Given the description of an element on the screen output the (x, y) to click on. 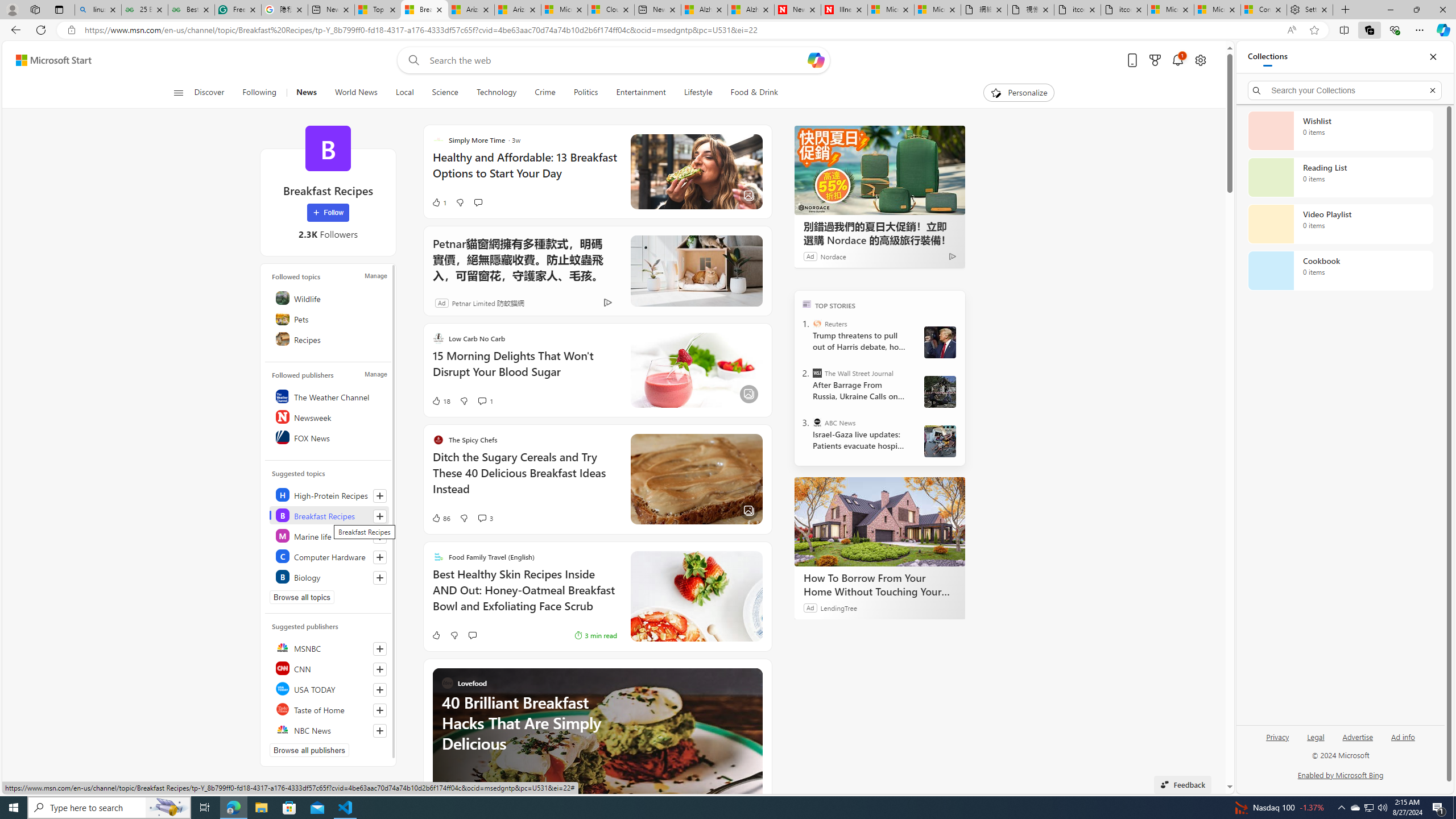
Manage (375, 374)
Local (403, 92)
View comments 1 Comment (485, 400)
Browse all topics (301, 597)
86 Like (440, 517)
Personalize (1019, 92)
LendingTree (838, 607)
The Weather Channel (328, 396)
